Given the description of an element on the screen output the (x, y) to click on. 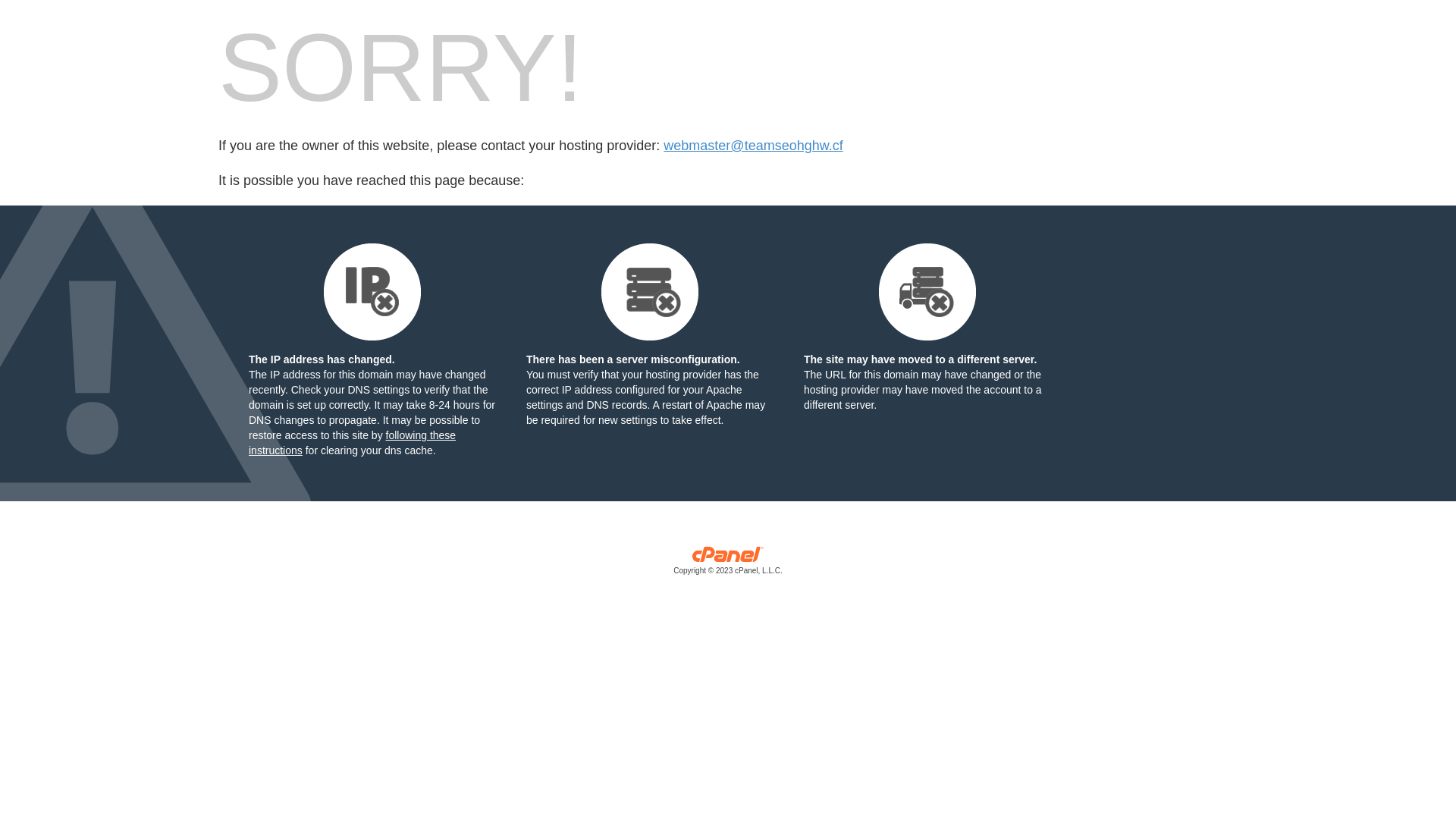
webmaster@teamseohghw.cf Element type: text (752, 145)
following these instructions Element type: text (351, 442)
